Given the description of an element on the screen output the (x, y) to click on. 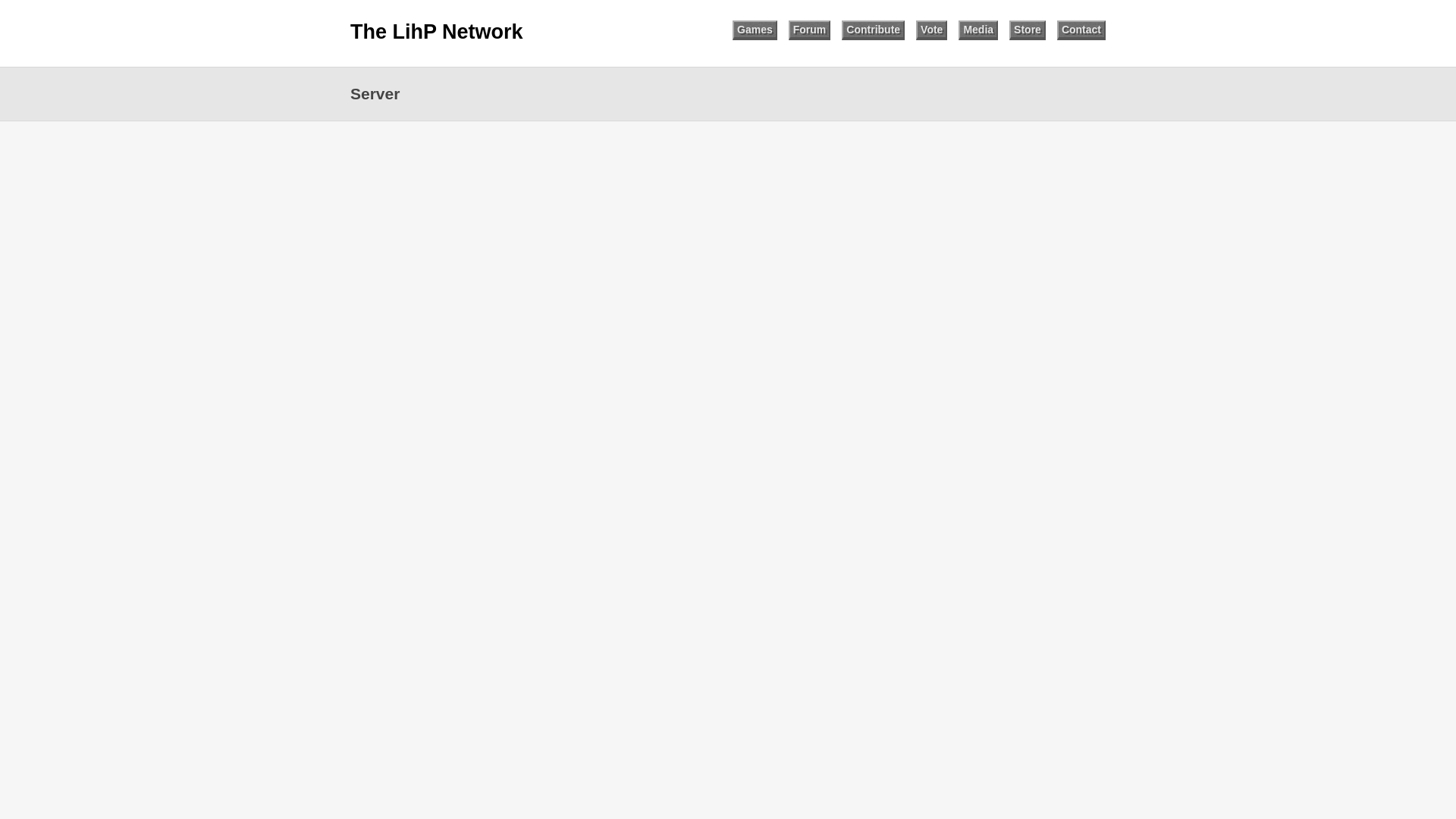
Games (754, 30)
Vote (931, 30)
The LihP Network (436, 31)
Our YouTube, twitch and other media outlets. (977, 30)
Home (436, 31)
Forum (810, 30)
Choose a game mode for more information. (754, 30)
Contact (1081, 30)
Buy ranks and support us! (1027, 30)
Contribute (872, 30)
